Given the description of an element on the screen output the (x, y) to click on. 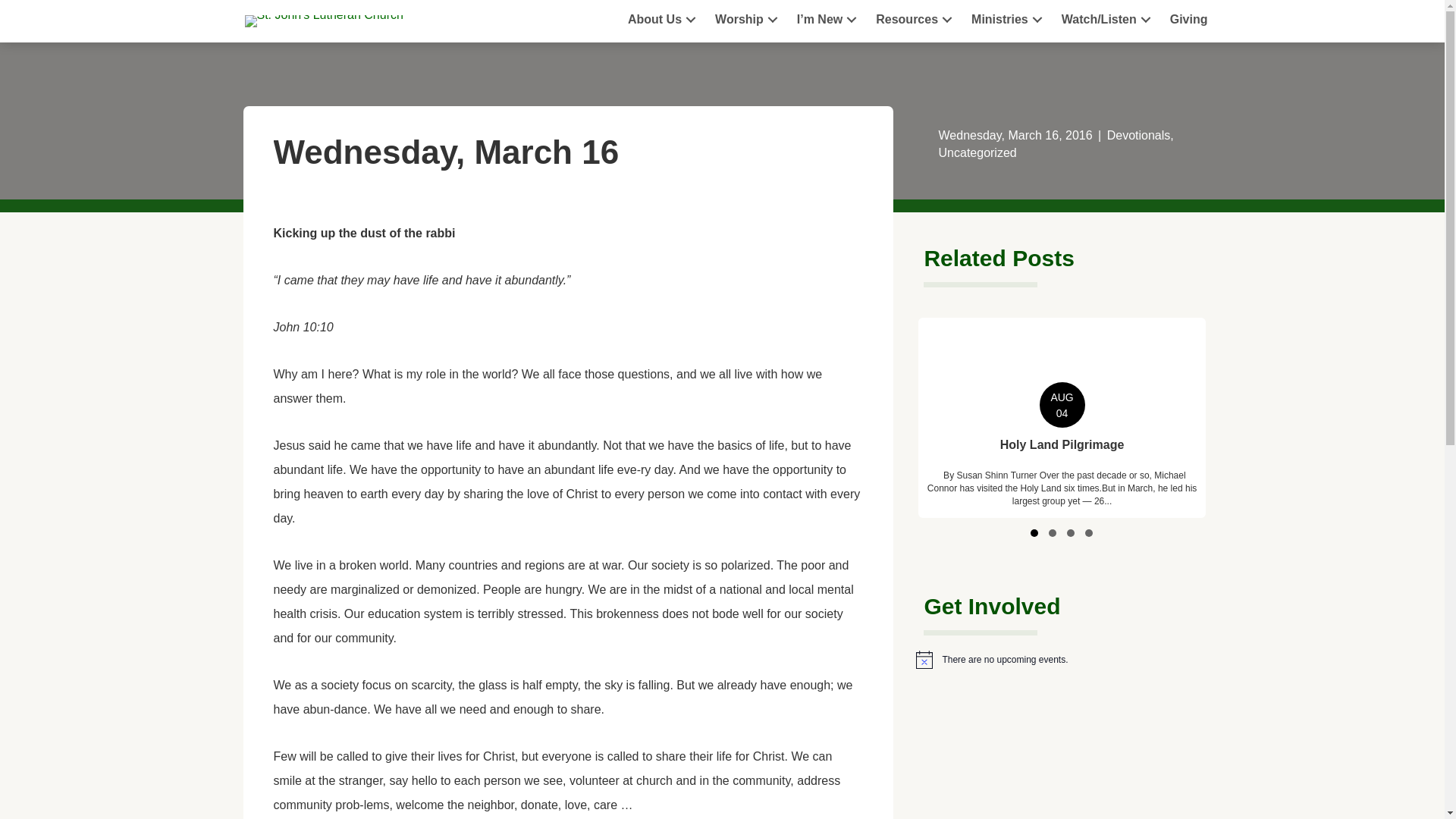
Resources (915, 19)
Ministries (1008, 19)
About Us (663, 19)
St. John's Lutheran Church (323, 21)
Worship (748, 19)
Holy Land Pilgrimage (1061, 417)
Giving (1188, 19)
